Given the description of an element on the screen output the (x, y) to click on. 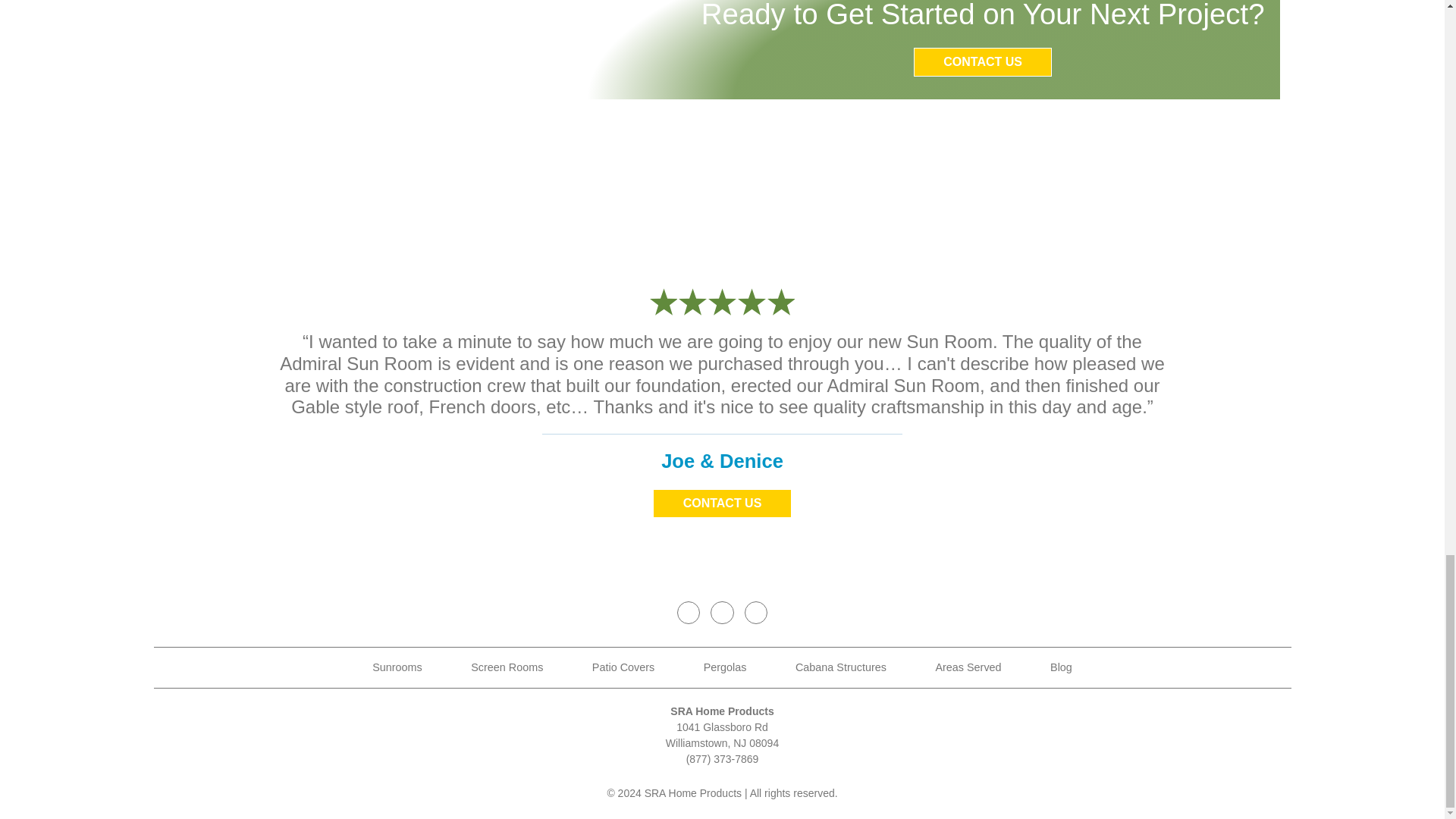
Patio Covers (622, 666)
CONTACT US (982, 61)
YouTube (755, 612)
Sunrooms (397, 666)
CONTACT US (721, 502)
Facebook (688, 612)
Pergolas (725, 666)
Twitter (721, 612)
Screen Rooms (507, 666)
